Given the description of an element on the screen output the (x, y) to click on. 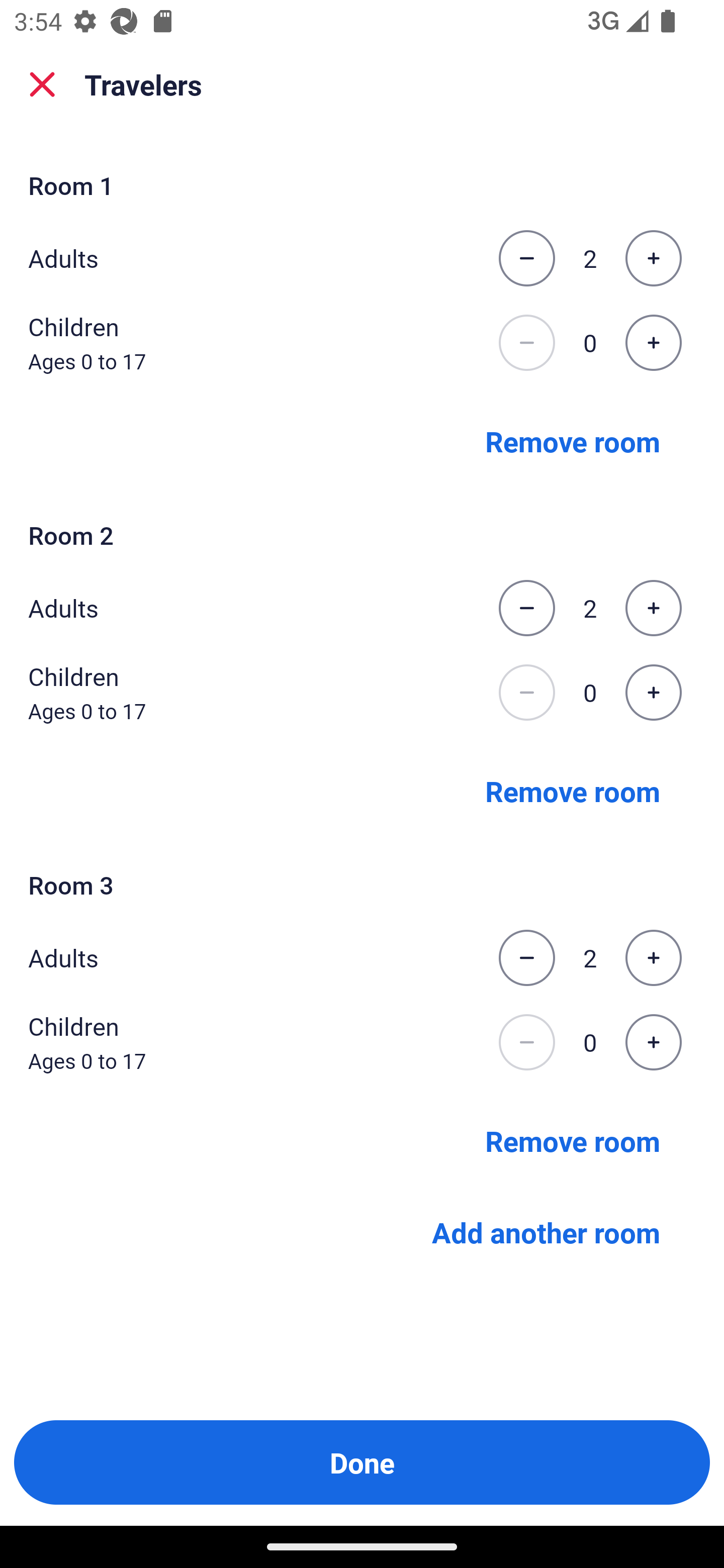
close (42, 84)
Decrease the number of adults (526, 258)
Increase the number of adults (653, 258)
Decrease the number of children (526, 343)
Increase the number of children (653, 343)
Remove room (572, 440)
Decrease the number of adults (526, 608)
Increase the number of adults (653, 608)
Decrease the number of children (526, 692)
Increase the number of children (653, 692)
Remove room (572, 790)
Decrease the number of adults (526, 957)
Increase the number of adults (653, 957)
Decrease the number of children (526, 1042)
Increase the number of children (653, 1042)
Remove room (572, 1140)
Add another room (545, 1232)
Done (361, 1462)
